Given the description of an element on the screen output the (x, y) to click on. 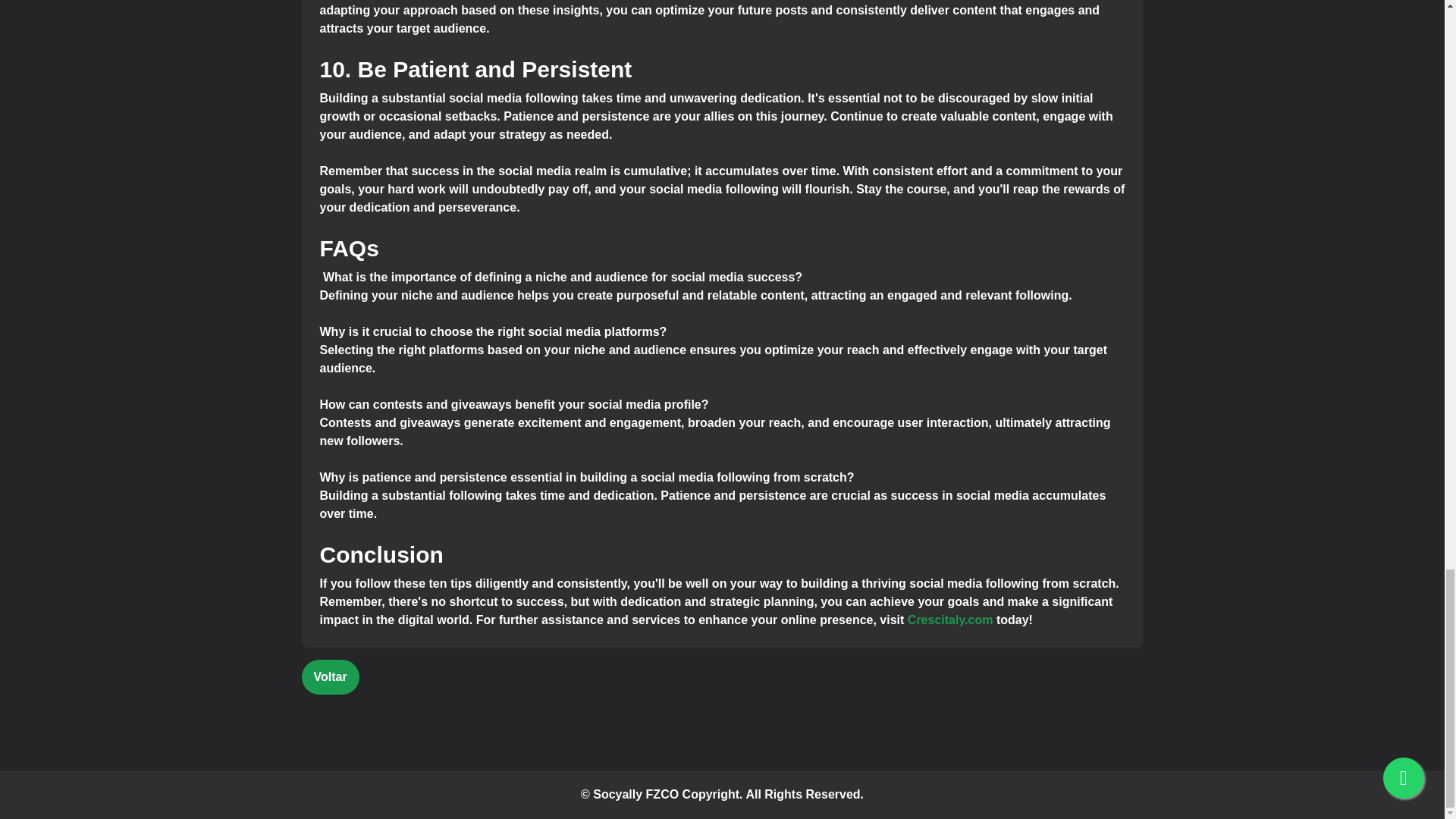
Crescitaly.com (949, 619)
Voltar (330, 677)
